Given the description of an element on the screen output the (x, y) to click on. 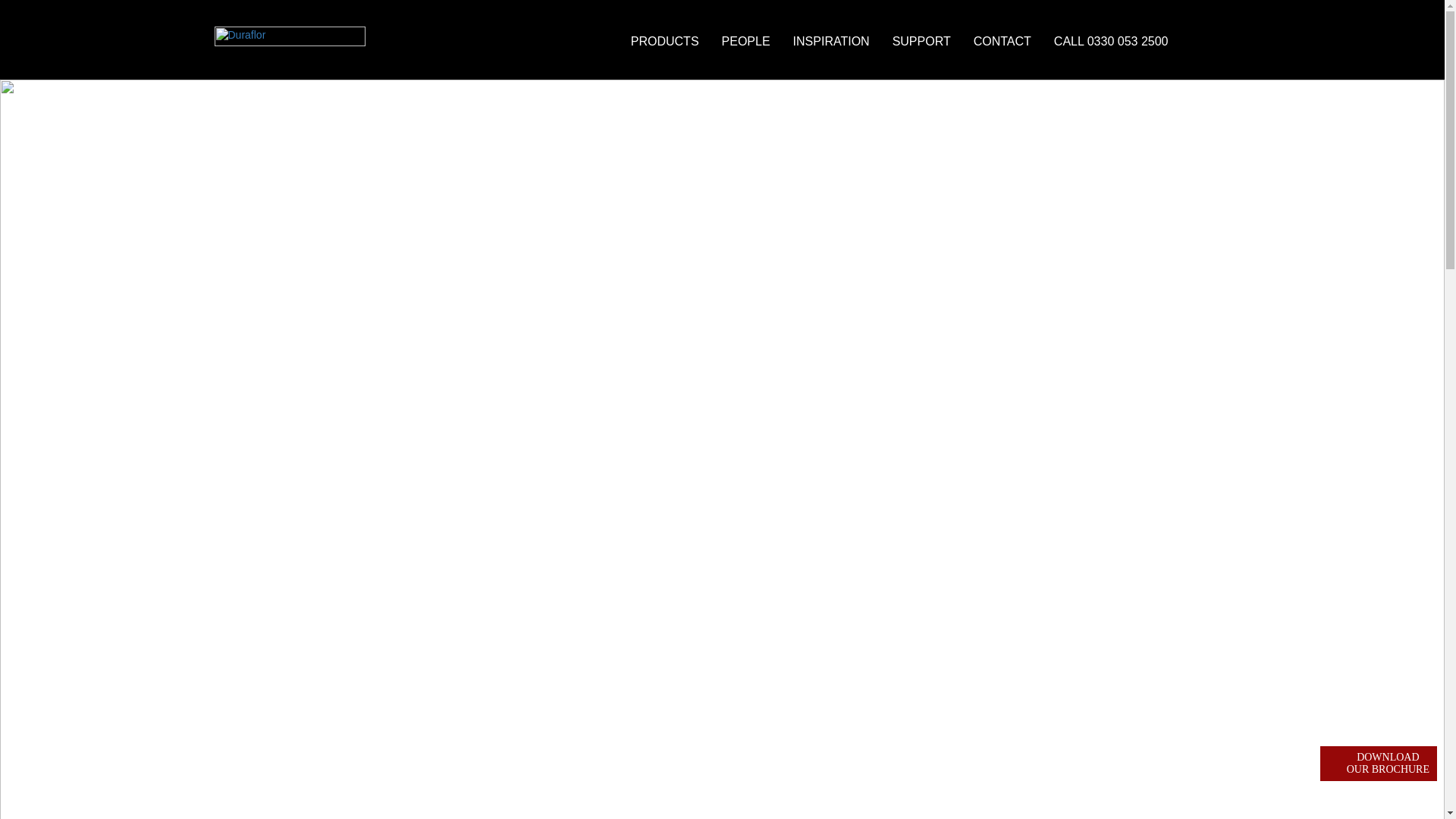
PEOPLE (745, 41)
Submit (721, 396)
INSPIRATION (830, 41)
CALL 0330 053 2500 (1110, 41)
PRODUCTS (665, 41)
SUPPORT (921, 41)
CONTACT (1002, 41)
Samples (1221, 40)
